Given the description of an element on the screen output the (x, y) to click on. 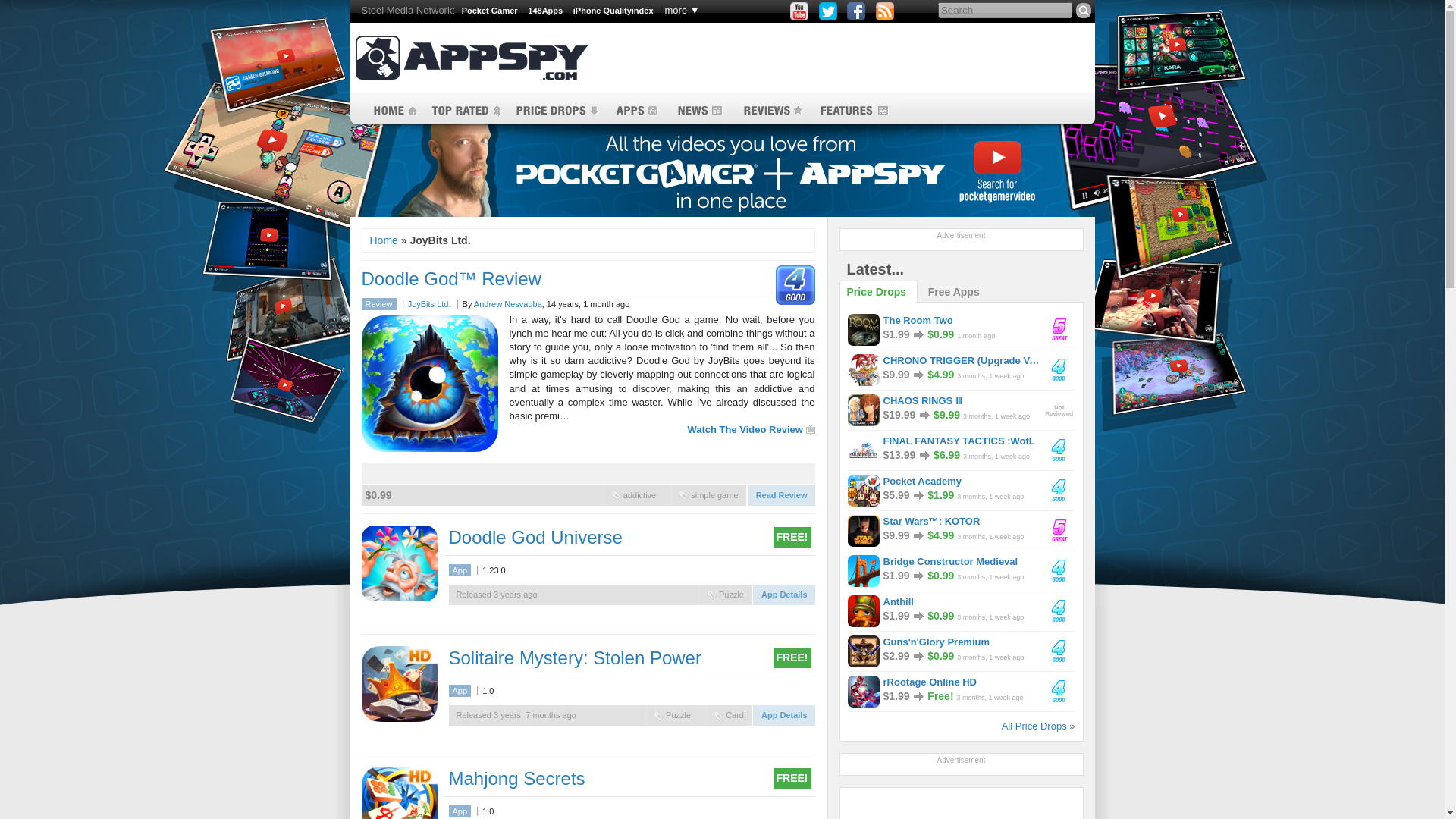
Pocket Gamer (489, 10)
Features (853, 110)
Find us on Facebook (855, 11)
4 (792, 284)
Visit our YouTube channel (799, 11)
Watch The Video Review (750, 429)
addictive (616, 495)
iPhone Qualityindex (613, 10)
Doodle God Universe (398, 563)
AppSpy - Track Apps and Save (470, 57)
Follow us on Twitter (827, 11)
AppSpy Home (390, 110)
